Given the description of an element on the screen output the (x, y) to click on. 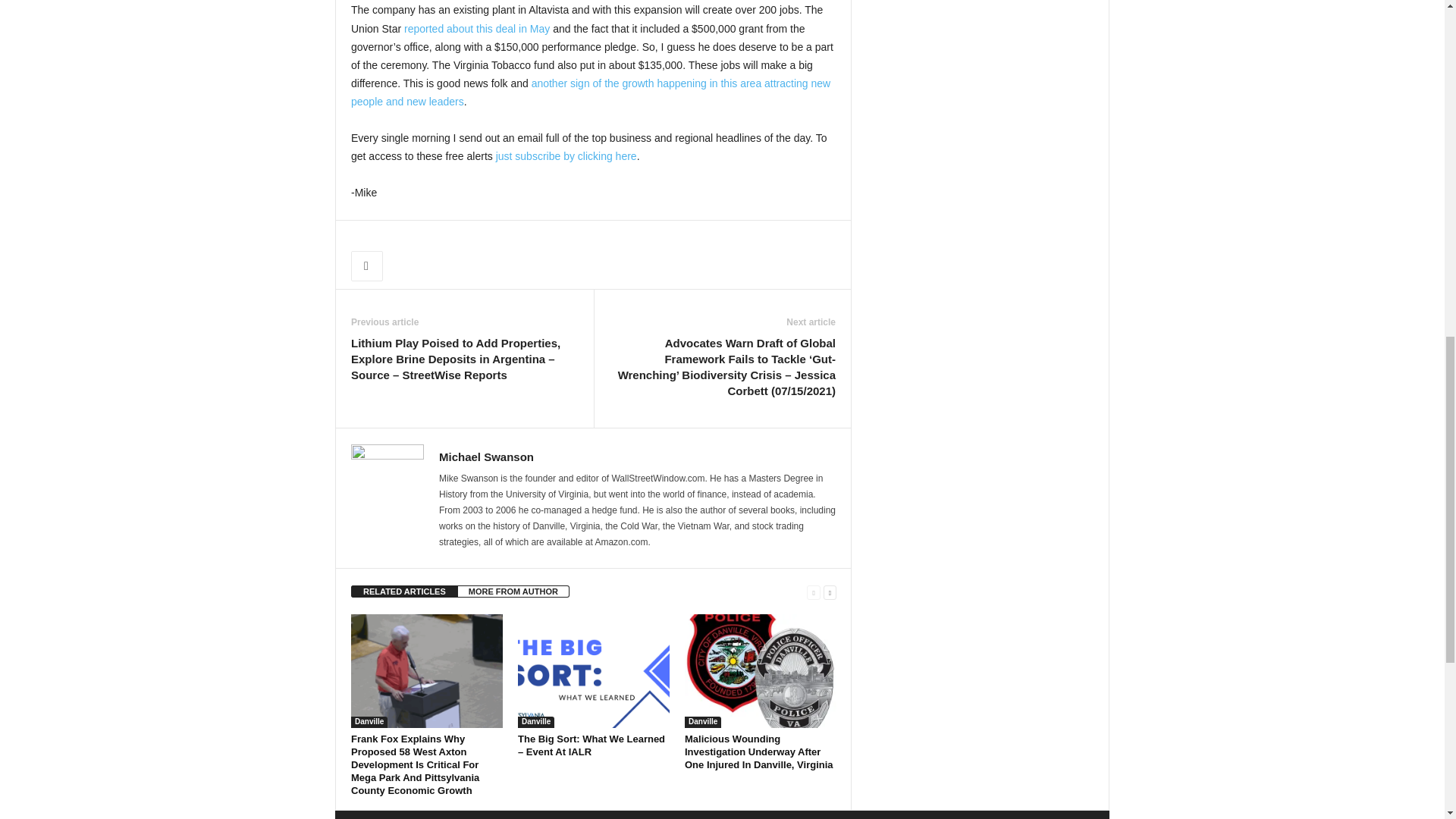
bottomFacebookLike (390, 236)
just subscribe by clicking here (566, 155)
reported about this deal in May (477, 28)
